Given the description of an element on the screen output the (x, y) to click on. 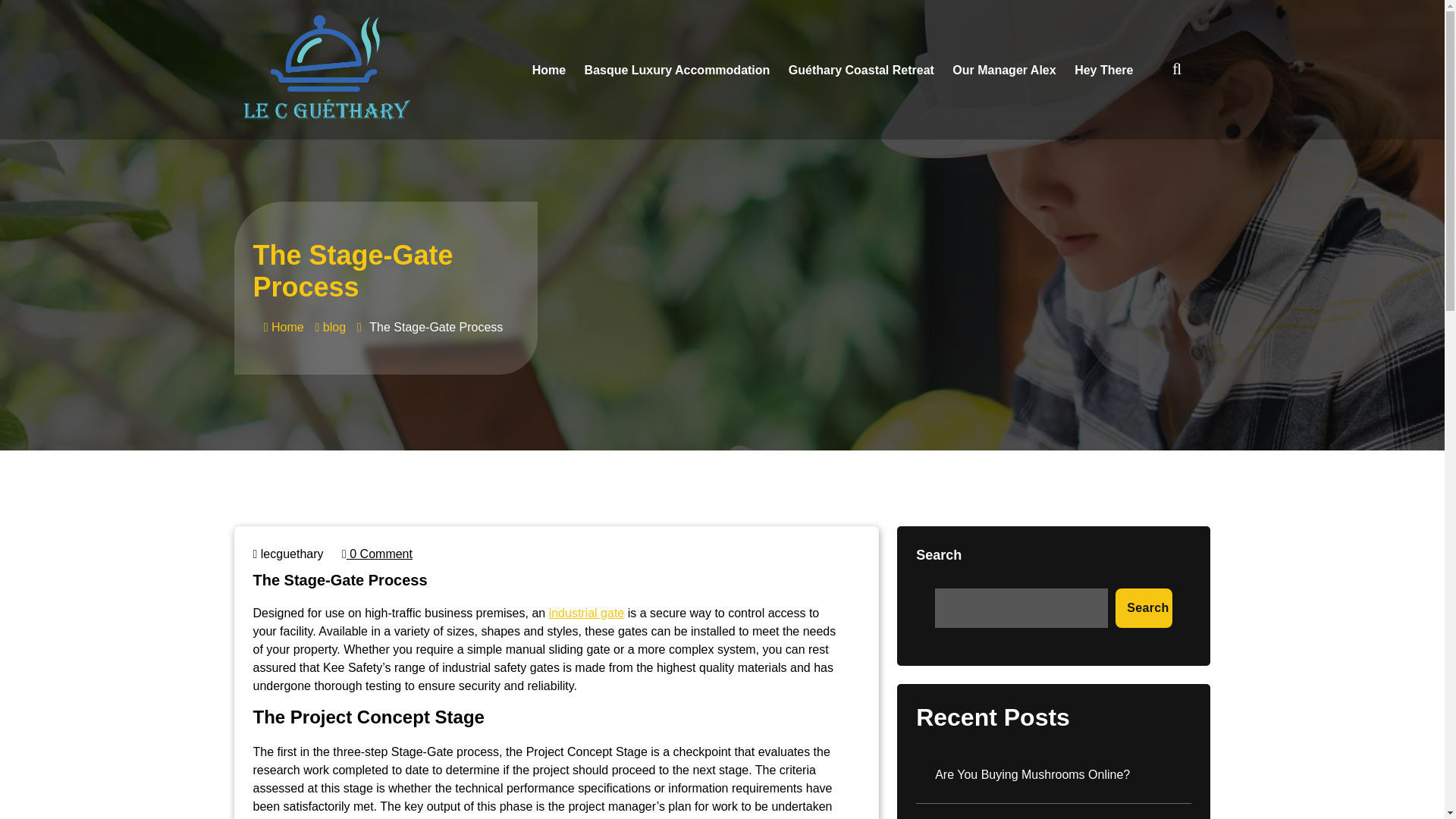
Search (1143, 608)
blog (334, 327)
Our Manager Alex (1003, 70)
Hey There (1103, 70)
industrial gate (586, 612)
0 Comment (377, 553)
Basque Luxury Accommodation (676, 70)
Home (283, 327)
lecguethary (288, 553)
